Given the description of an element on the screen output the (x, y) to click on. 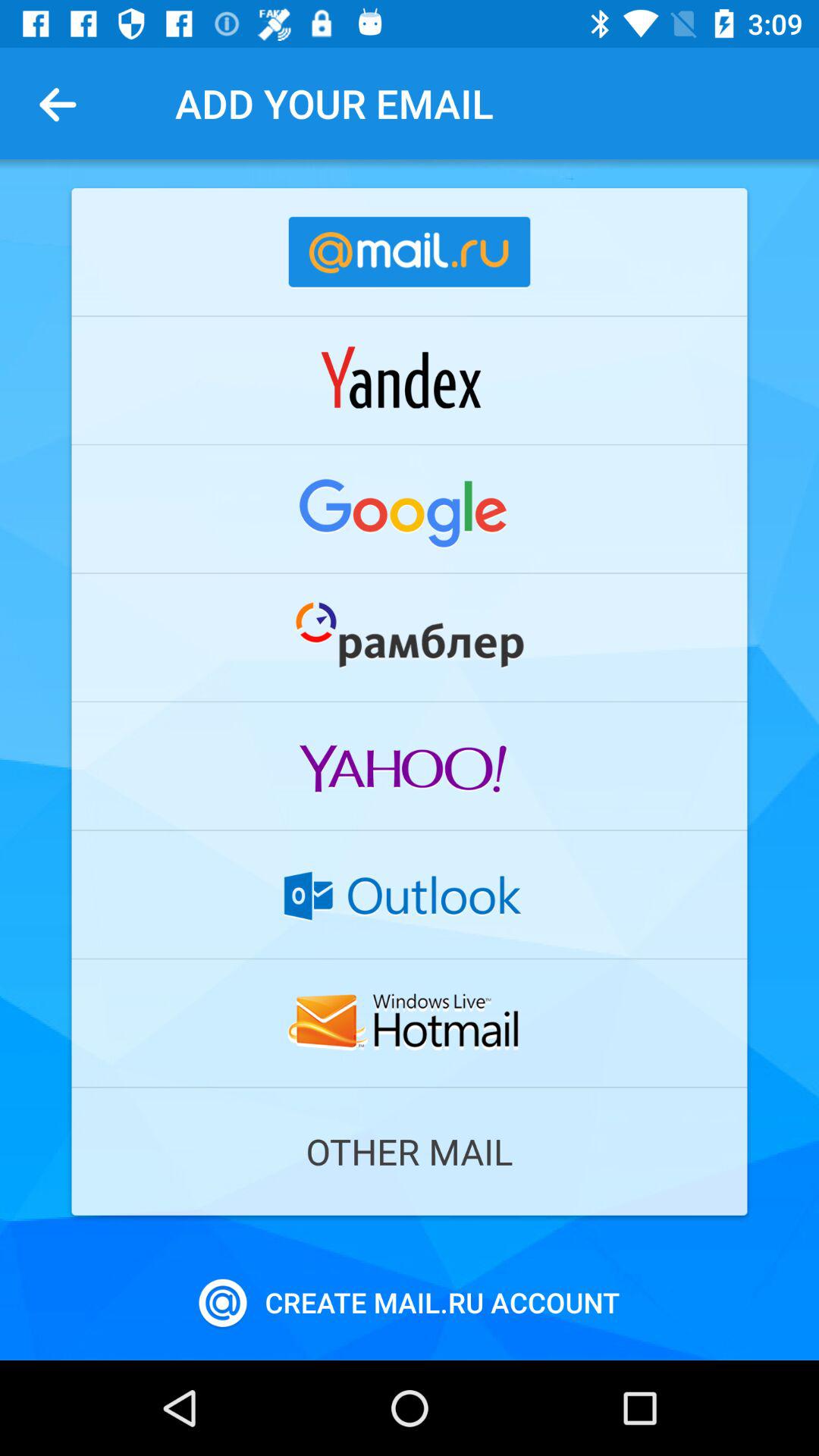
mail.ru selection box (409, 251)
